Given the description of an element on the screen output the (x, y) to click on. 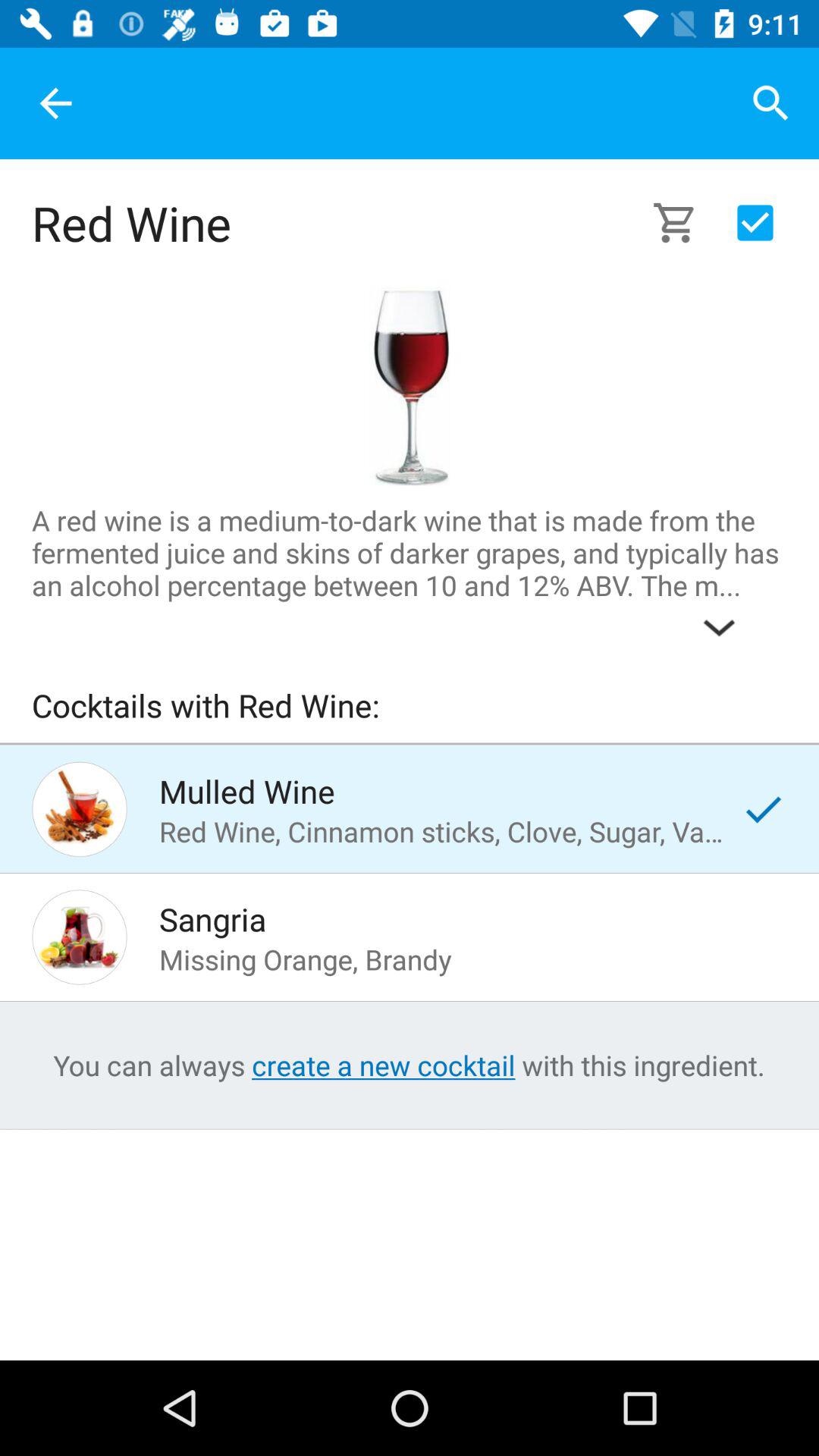
click the icon which is at the right side of cart icon (755, 222)
click on the image beside sangria (79, 937)
select the text which is the bottom of the page (409, 1065)
click on icon on the left side of sangria (79, 937)
click on the icon on the right side of red wine (683, 222)
